Given the description of an element on the screen output the (x, y) to click on. 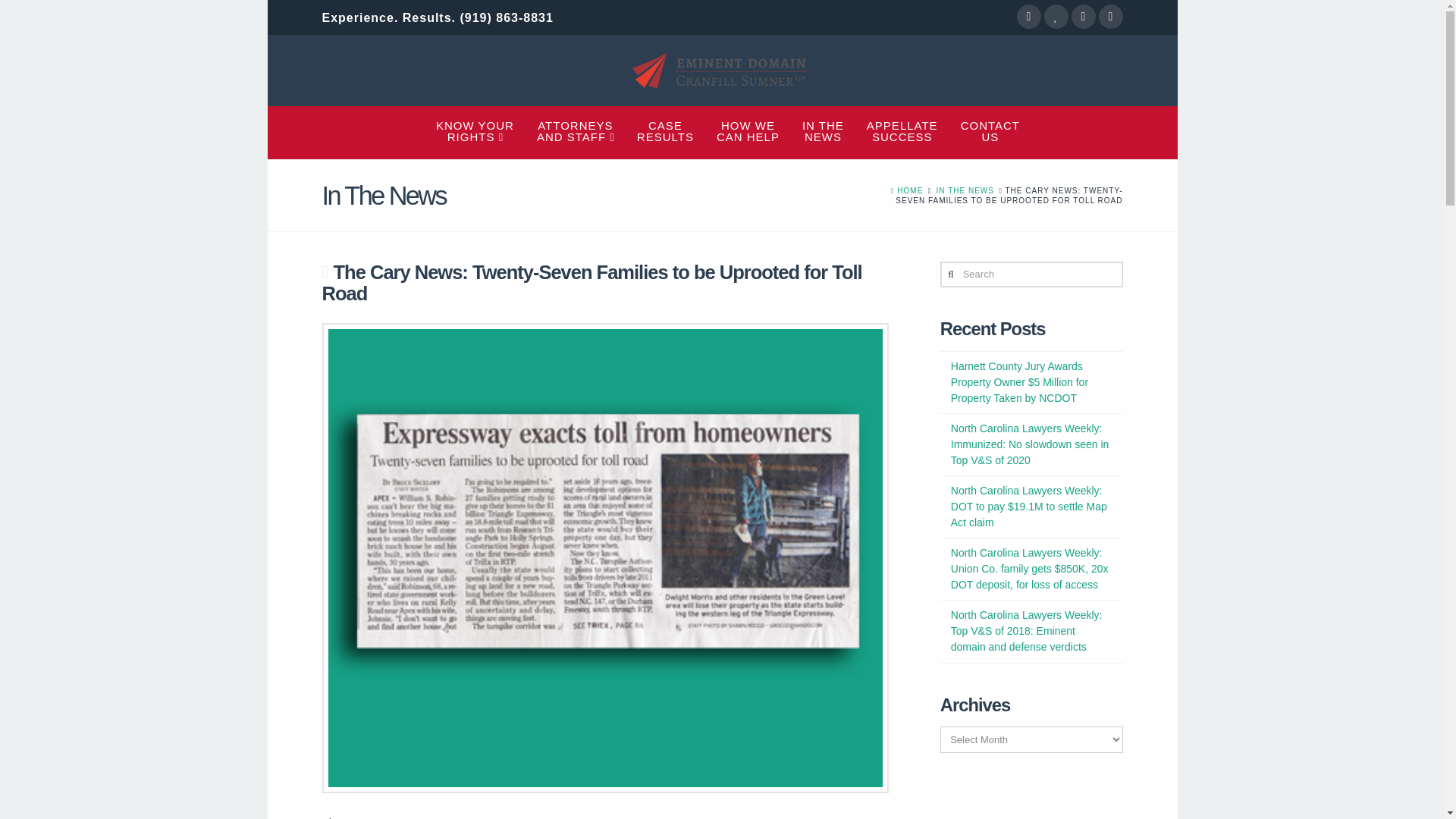
HOME (901, 131)
IN THE NEWS (665, 131)
Eminent Domain North Carolina (907, 190)
See All Posts (990, 131)
